Given the description of an element on the screen output the (x, y) to click on. 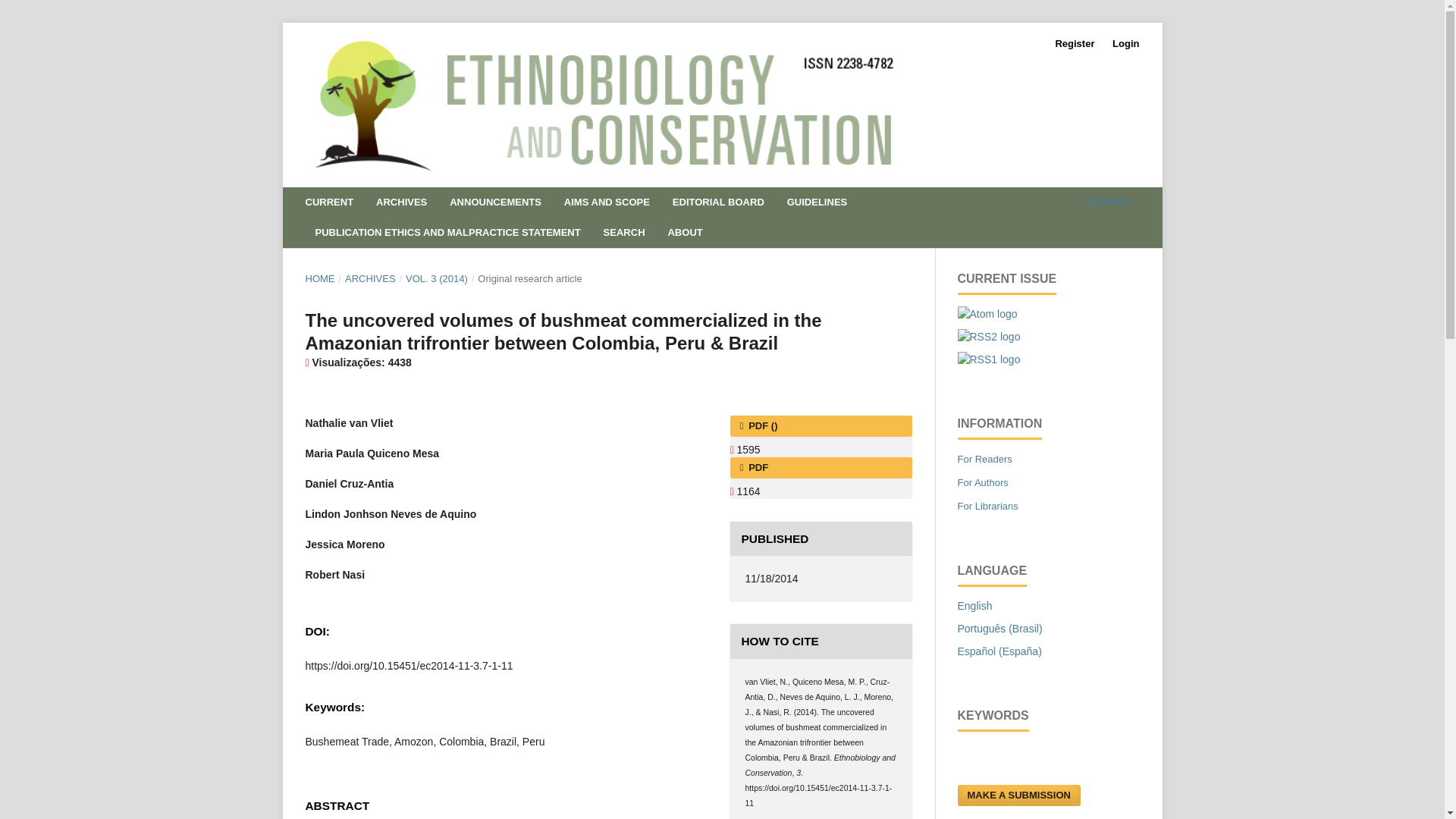
HOME (319, 278)
AIMS AND SCOPE (606, 203)
ABOUT (684, 234)
Login (1126, 43)
ARCHIVES (401, 203)
ARCHIVES (370, 278)
GUIDELINES (816, 203)
PDF (820, 467)
EDITORIAL BOARD (717, 203)
SEARCH (1104, 203)
ANNOUNCEMENTS (496, 203)
PUBLICATION ETHICS AND MALPRACTICE STATEMENT (447, 234)
CURRENT (328, 203)
SEARCH (623, 234)
Register (1074, 43)
